Given the description of an element on the screen output the (x, y) to click on. 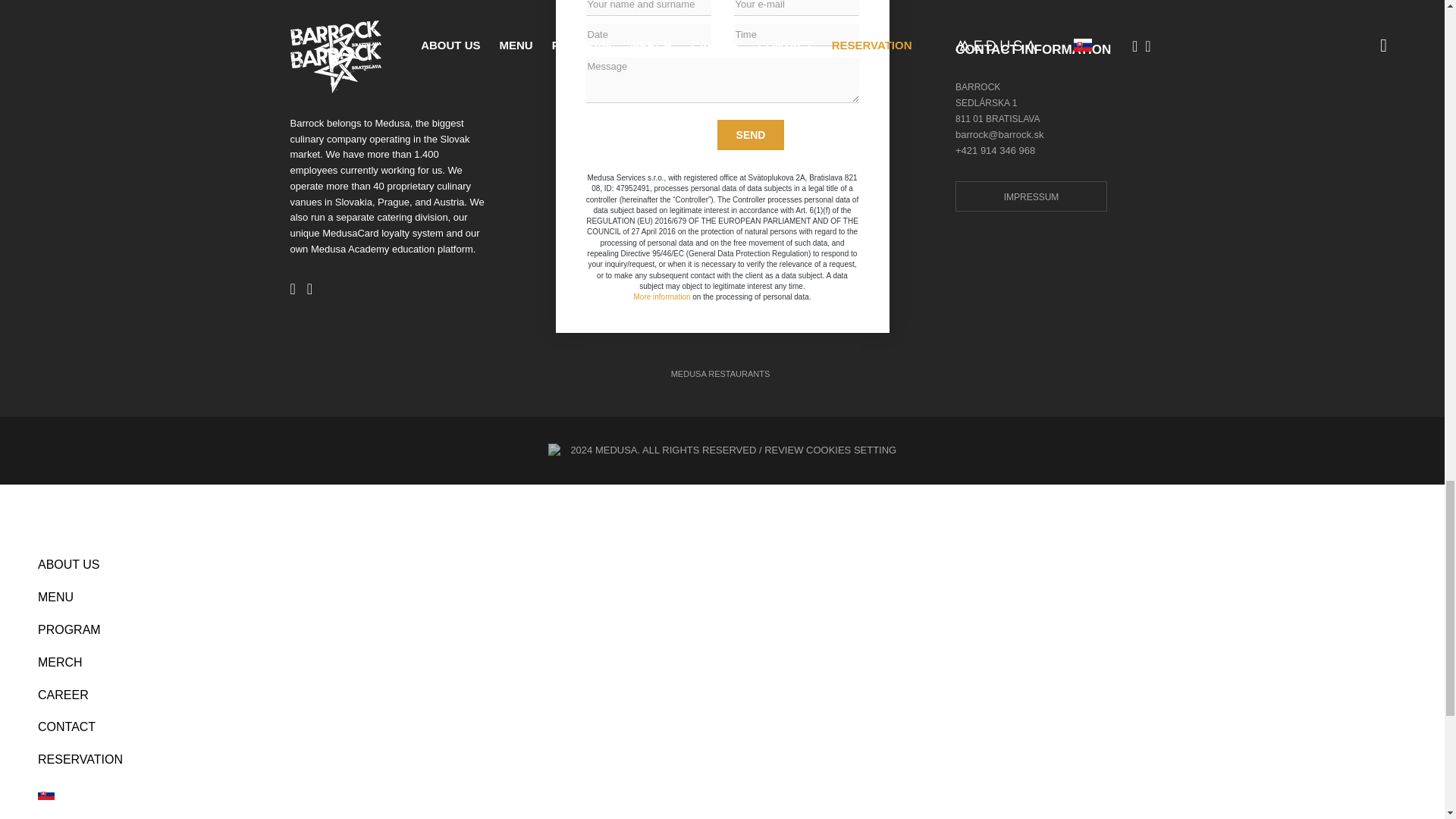
IMPRESSUM (1030, 195)
PROGRAM (721, 630)
More information (661, 296)
MEDUSA RESTAURANTS (720, 373)
REVIEW COOKIES SETTING (830, 449)
MENU (721, 597)
CAREER (721, 695)
MERCH (721, 663)
RESERVATION (721, 759)
Send (750, 134)
